Given the description of an element on the screen output the (x, y) to click on. 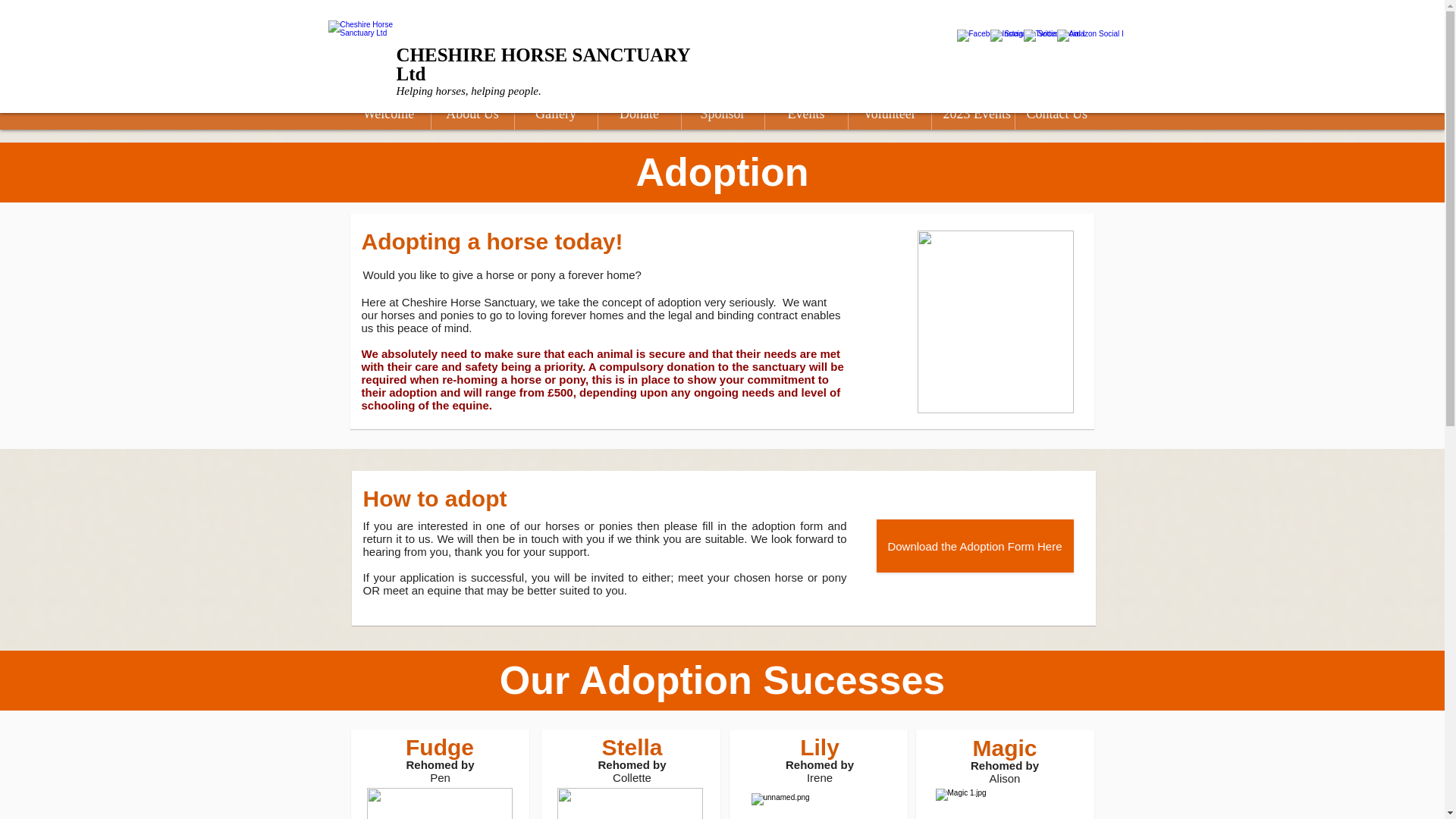
Welcome (388, 113)
About Us (471, 113)
Download the Adoption Form Here (975, 545)
Volunteer (888, 113)
Sponsor (721, 113)
Donate (637, 113)
Gallery (554, 113)
fudge.jpg (439, 803)
2023 Events (972, 113)
Contact Us (1055, 113)
